Given the description of an element on the screen output the (x, y) to click on. 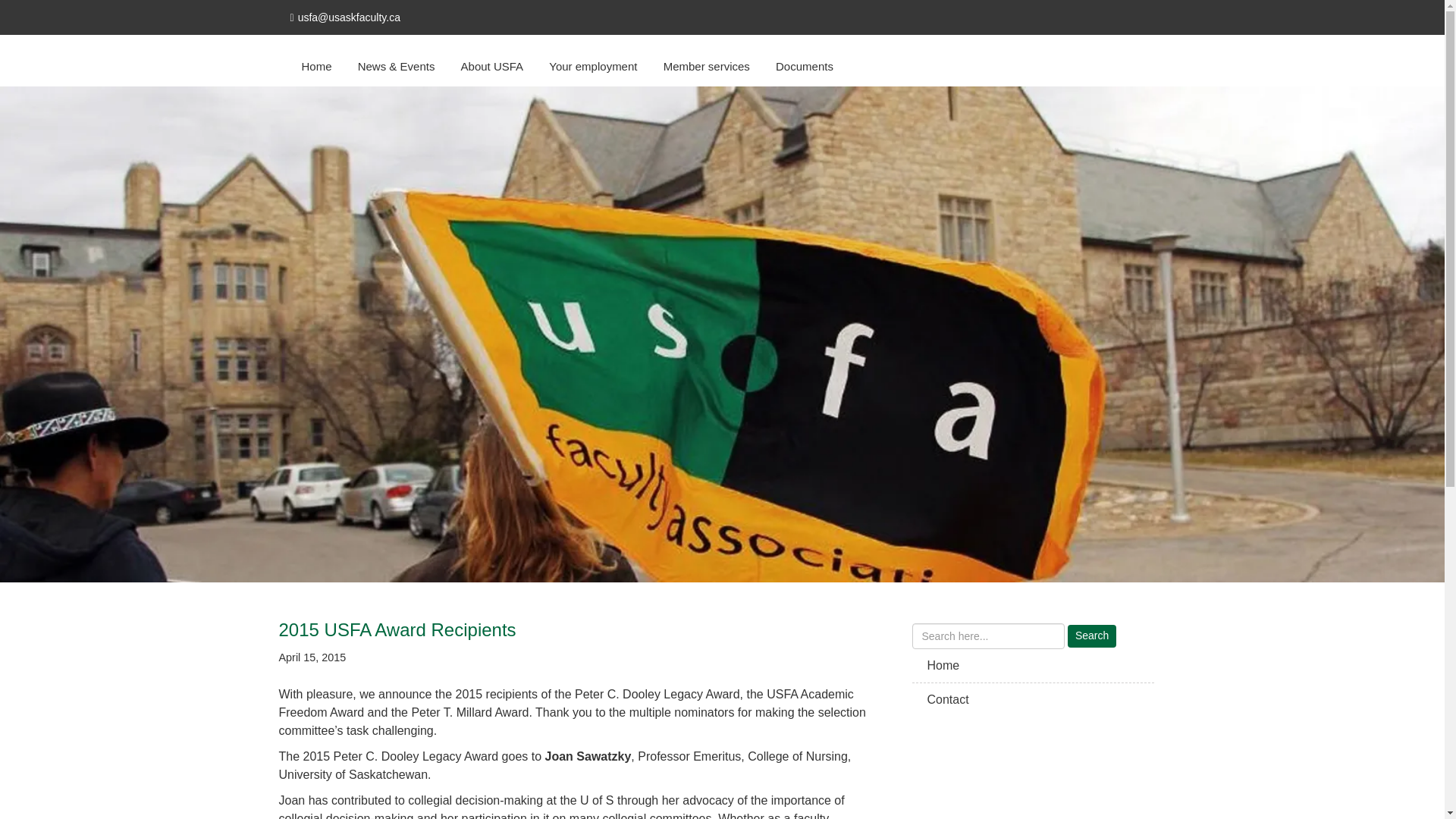
Home (315, 61)
Your employment (592, 61)
Search (1091, 635)
About USFA (492, 61)
Member services (706, 61)
